Given the description of an element on the screen output the (x, y) to click on. 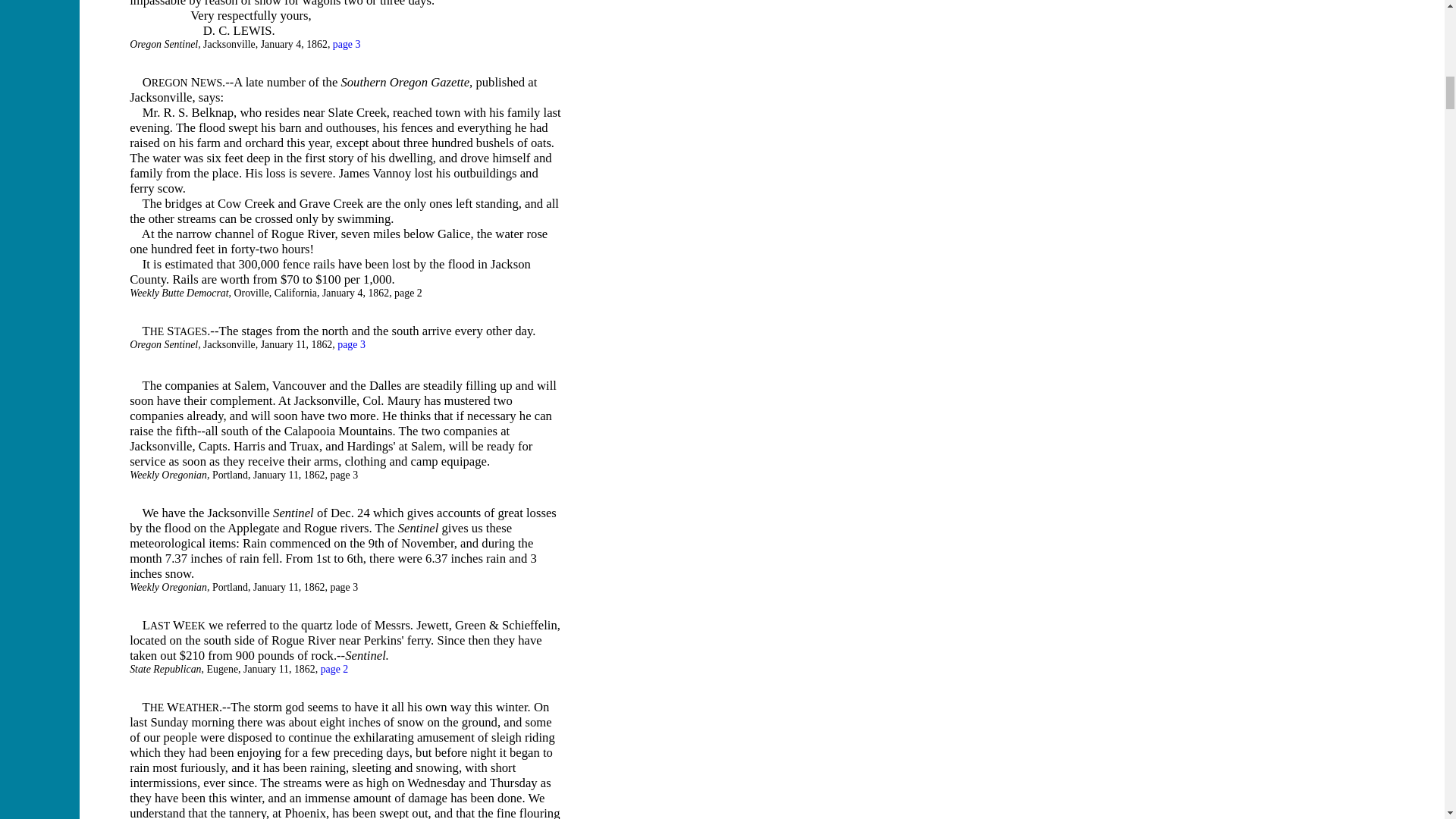
page 3 (351, 344)
page 2 (334, 668)
page 3 (347, 43)
